Given the description of an element on the screen output the (x, y) to click on. 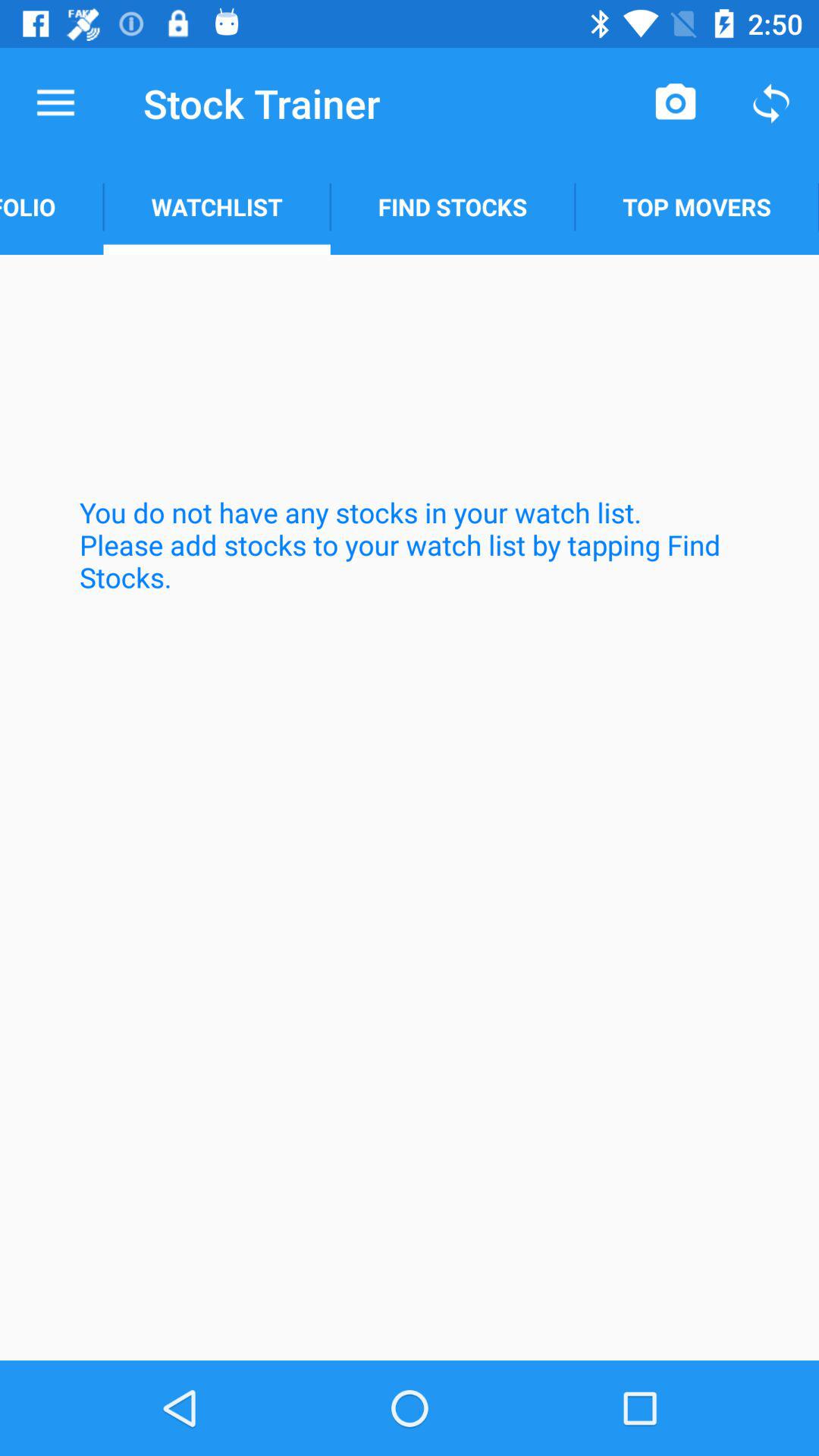
tap icon above the you do not (697, 206)
